Given the description of an element on the screen output the (x, y) to click on. 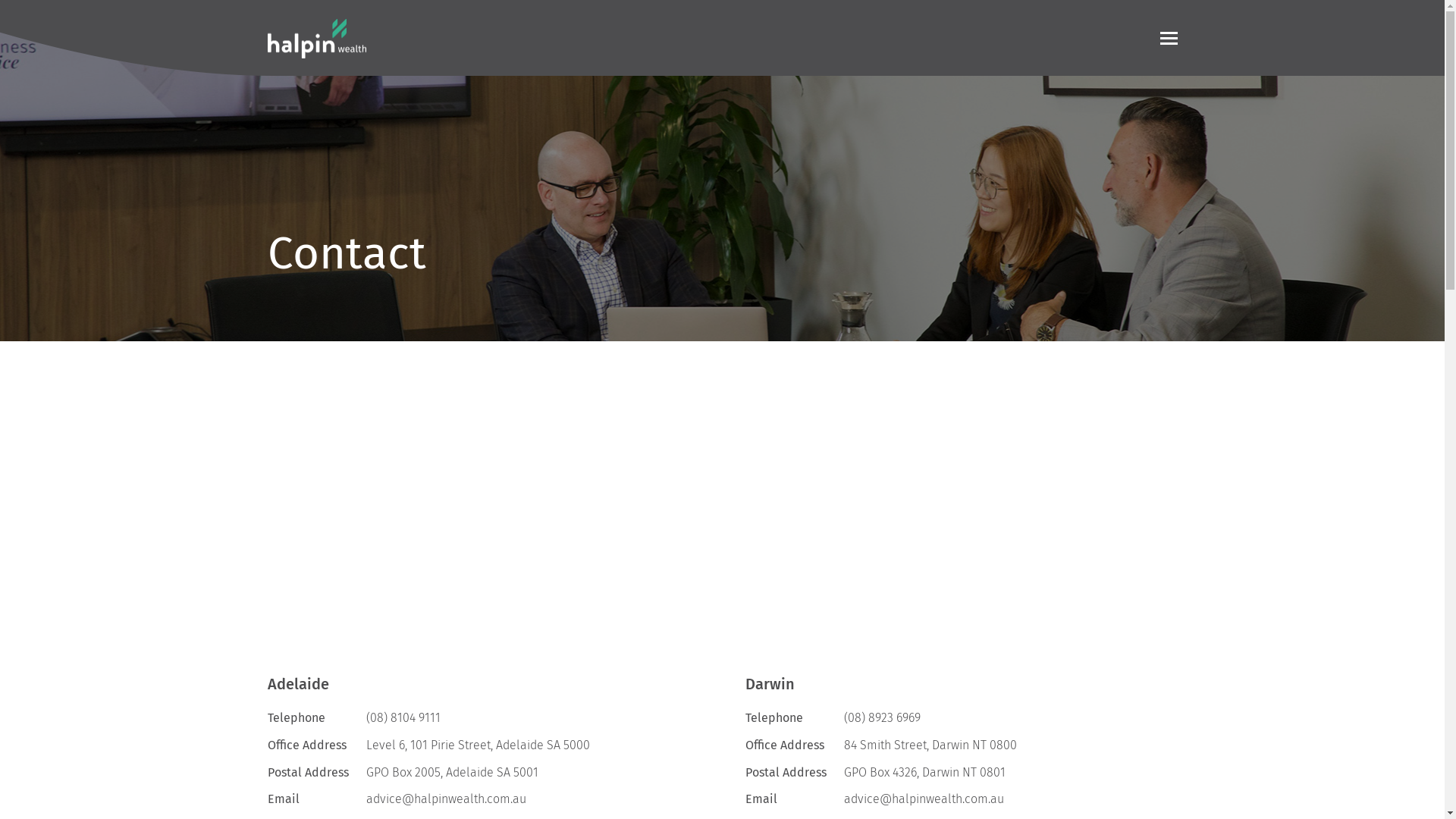
(08) 8923 6969 Element type: text (881, 717)
advice@halpinwealth.com.au Element type: text (923, 798)
(08) 8104 9111 Element type: text (402, 717)
advice@halpinwealth.com.au Element type: text (445, 798)
